Given the description of an element on the screen output the (x, y) to click on. 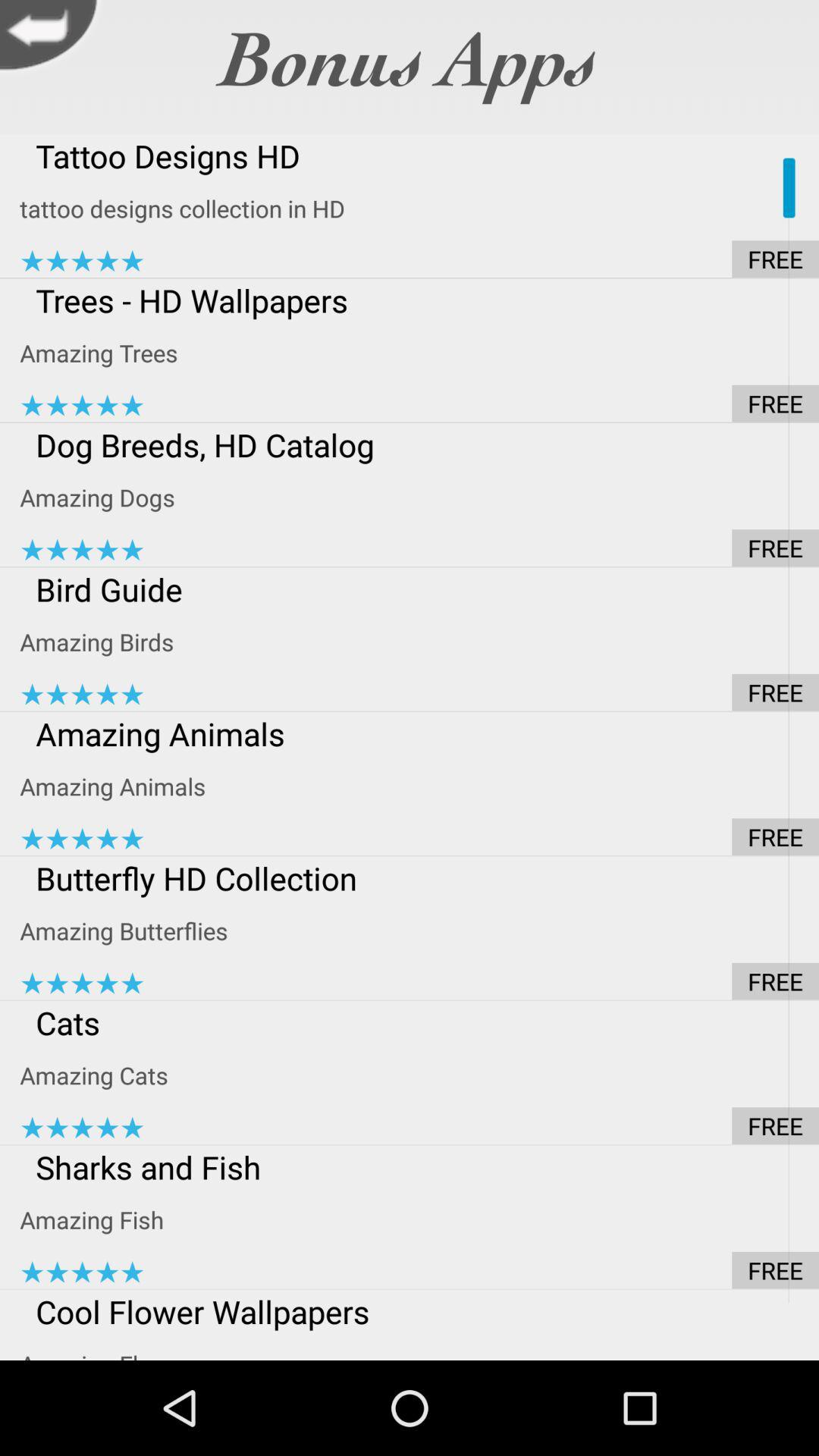
go back (52, 38)
